Given the description of an element on the screen output the (x, y) to click on. 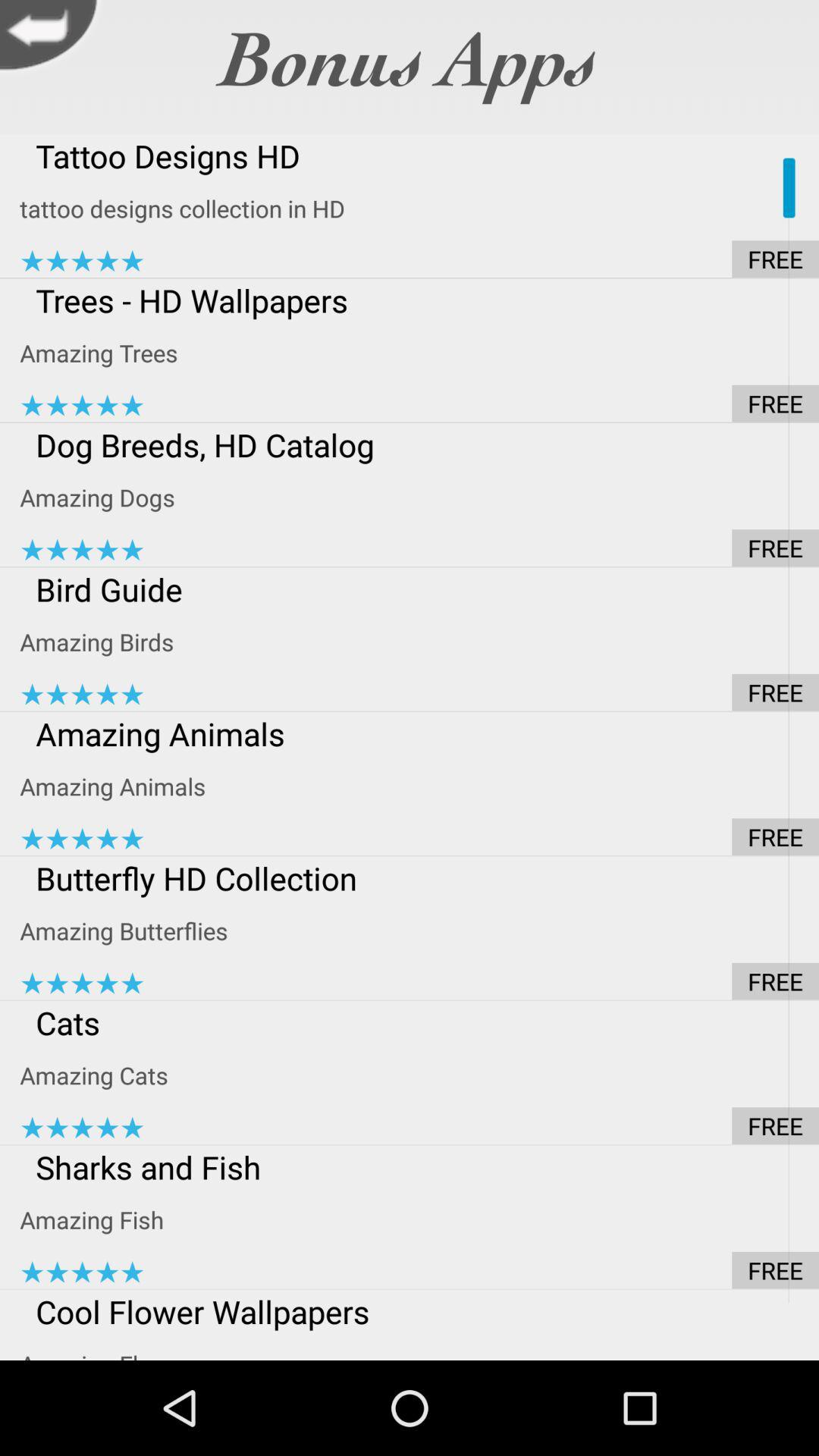
go back (52, 38)
